Given the description of an element on the screen output the (x, y) to click on. 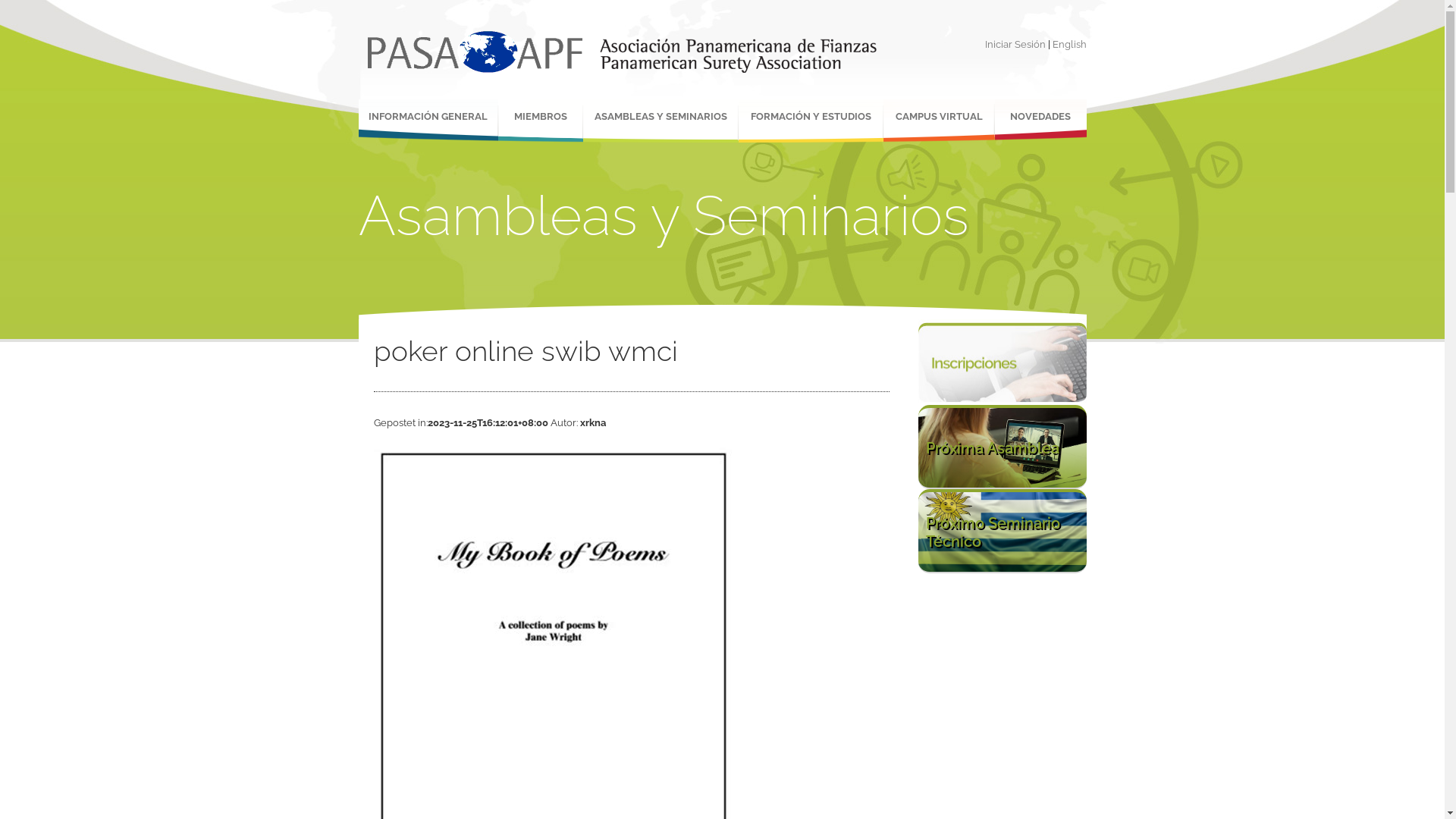
CAMPUS VIRTUAL Element type: text (938, 120)
NOVEDADES Element type: text (1040, 120)
English Element type: text (1069, 44)
MIEMBROS Element type: text (539, 120)
ASAMBLEAS Y SEMINARIOS Element type: text (659, 120)
